Given the description of an element on the screen output the (x, y) to click on. 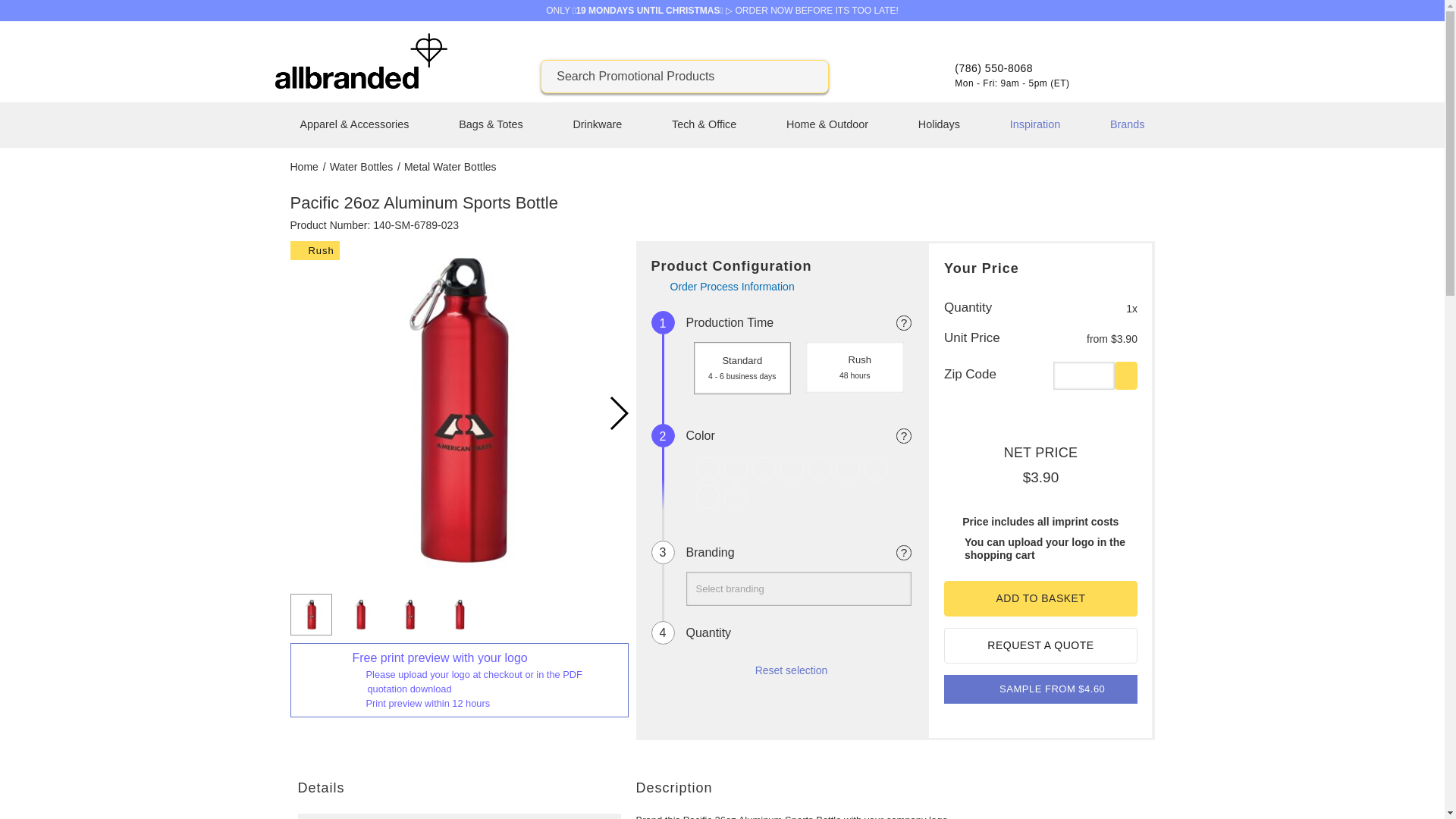
Water Bottles (363, 166)
Blue (734, 468)
Green (763, 469)
Home (304, 166)
Light Blue (791, 469)
Blue (735, 469)
Purple (847, 469)
allbranded.com (360, 84)
Black (707, 468)
Orange (819, 468)
